Given the description of an element on the screen output the (x, y) to click on. 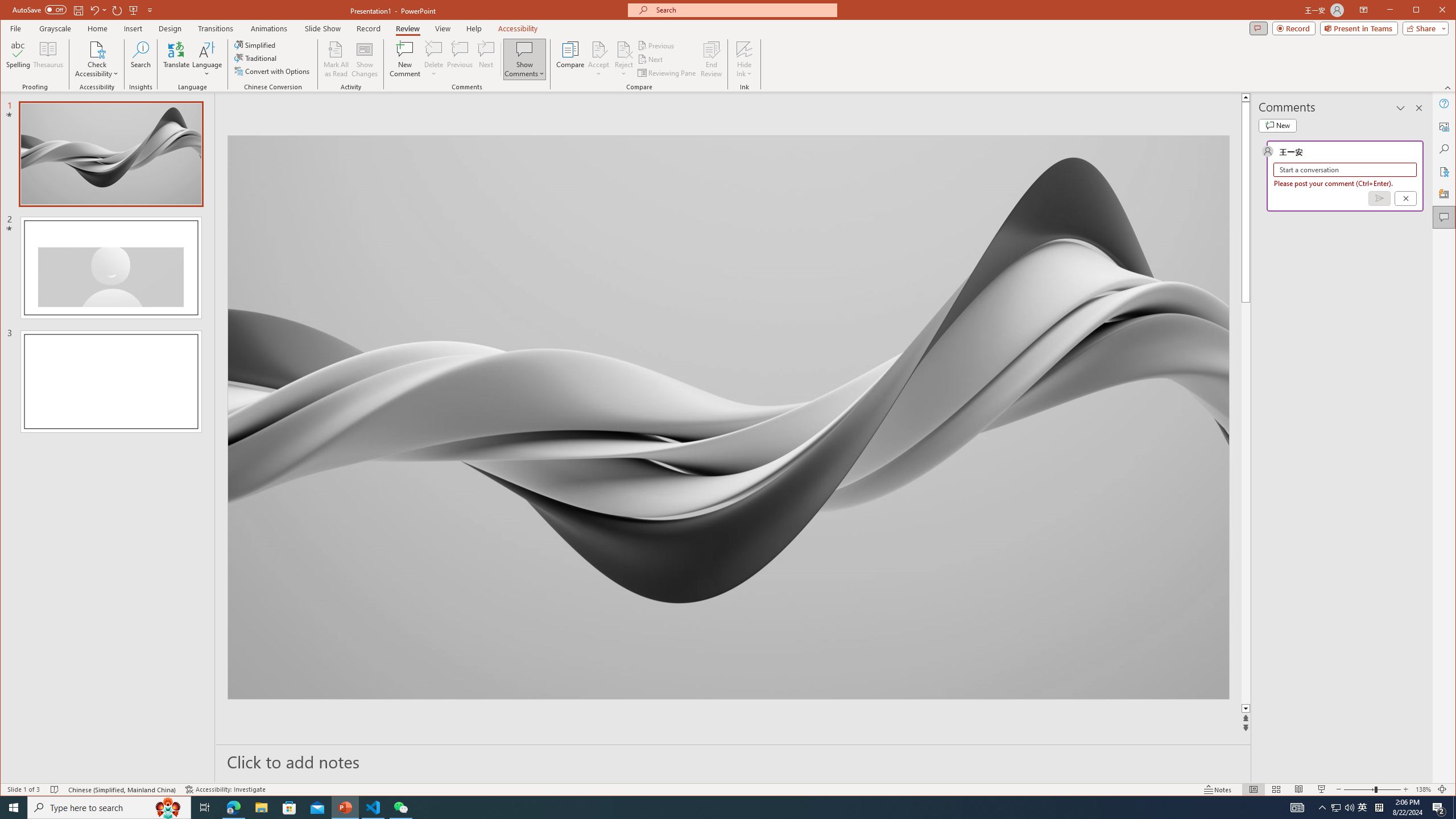
Reject (623, 59)
Translate (175, 59)
Language (207, 59)
Reviewing Pane (667, 72)
